Given the description of an element on the screen output the (x, y) to click on. 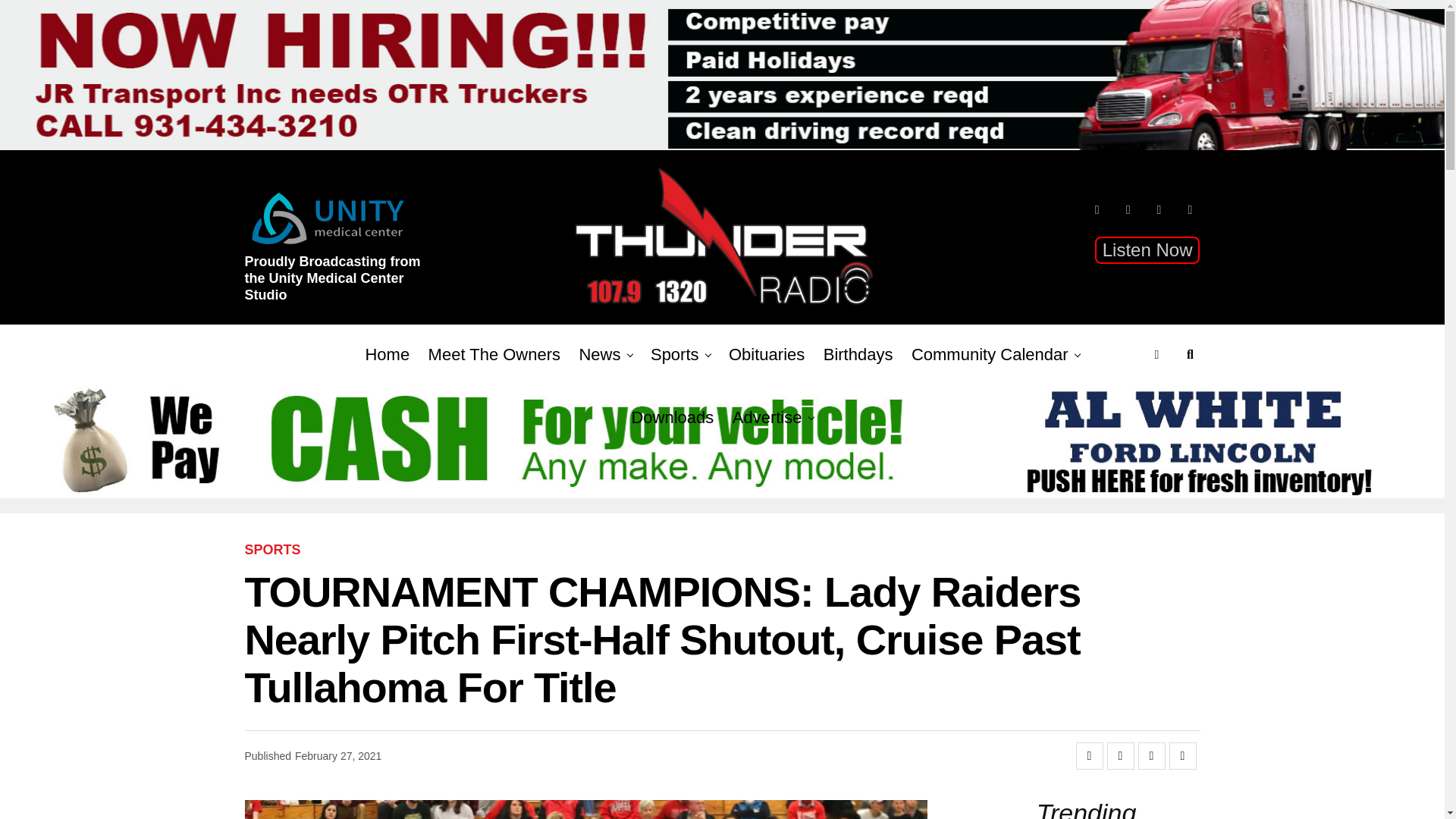
Tweet This Post (1120, 755)
Listen Now (1146, 249)
News (598, 354)
Share on Facebook (1088, 755)
Meet The Owners (493, 354)
Sports (674, 354)
Home (386, 354)
Proudly Broadcasting from the Unity Medical Center Studio (338, 284)
